Given the description of an element on the screen output the (x, y) to click on. 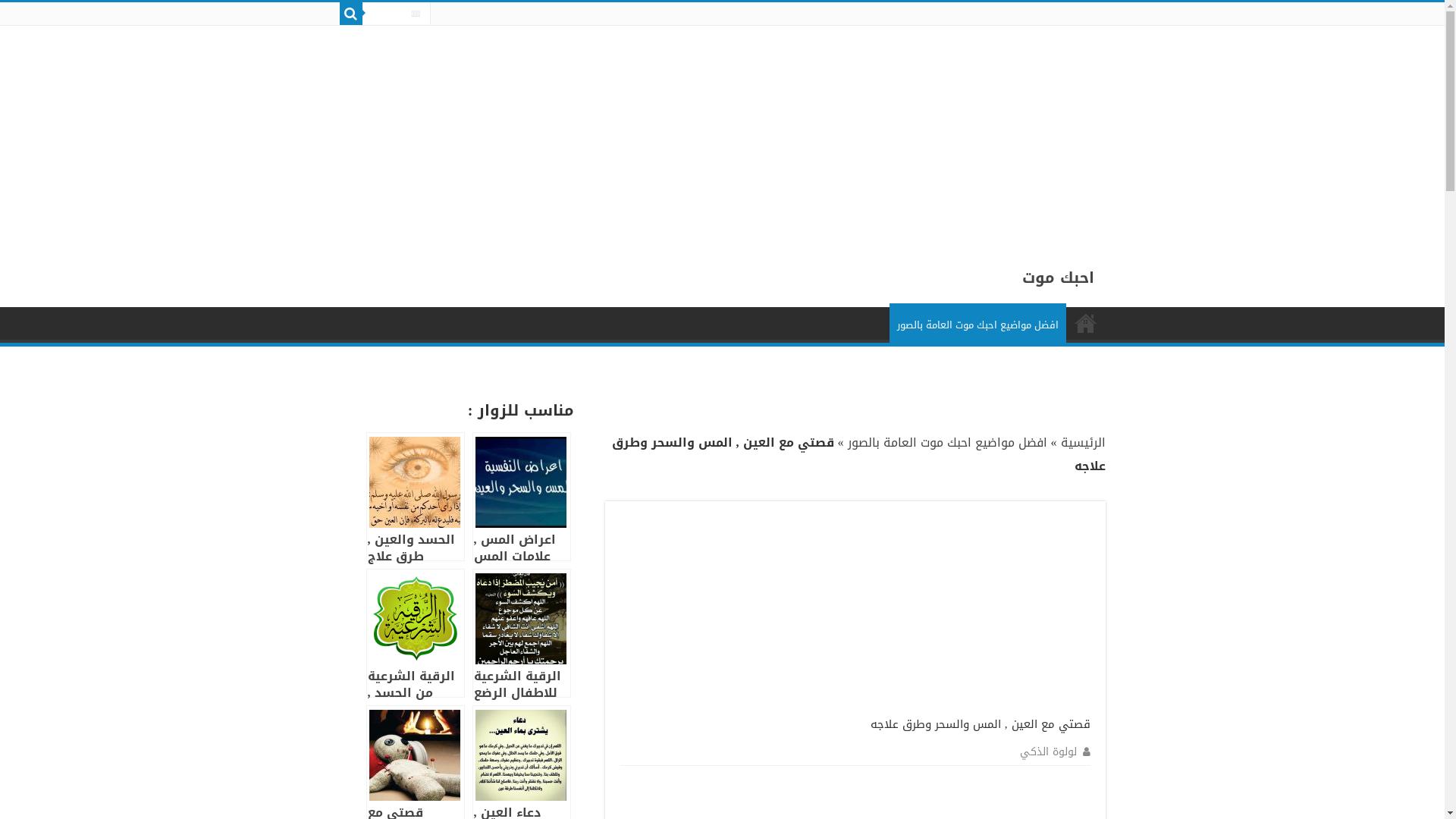
Advertisement Element type: hover (976, 611)
Advertisement Element type: hover (989, 131)
